Given the description of an element on the screen output the (x, y) to click on. 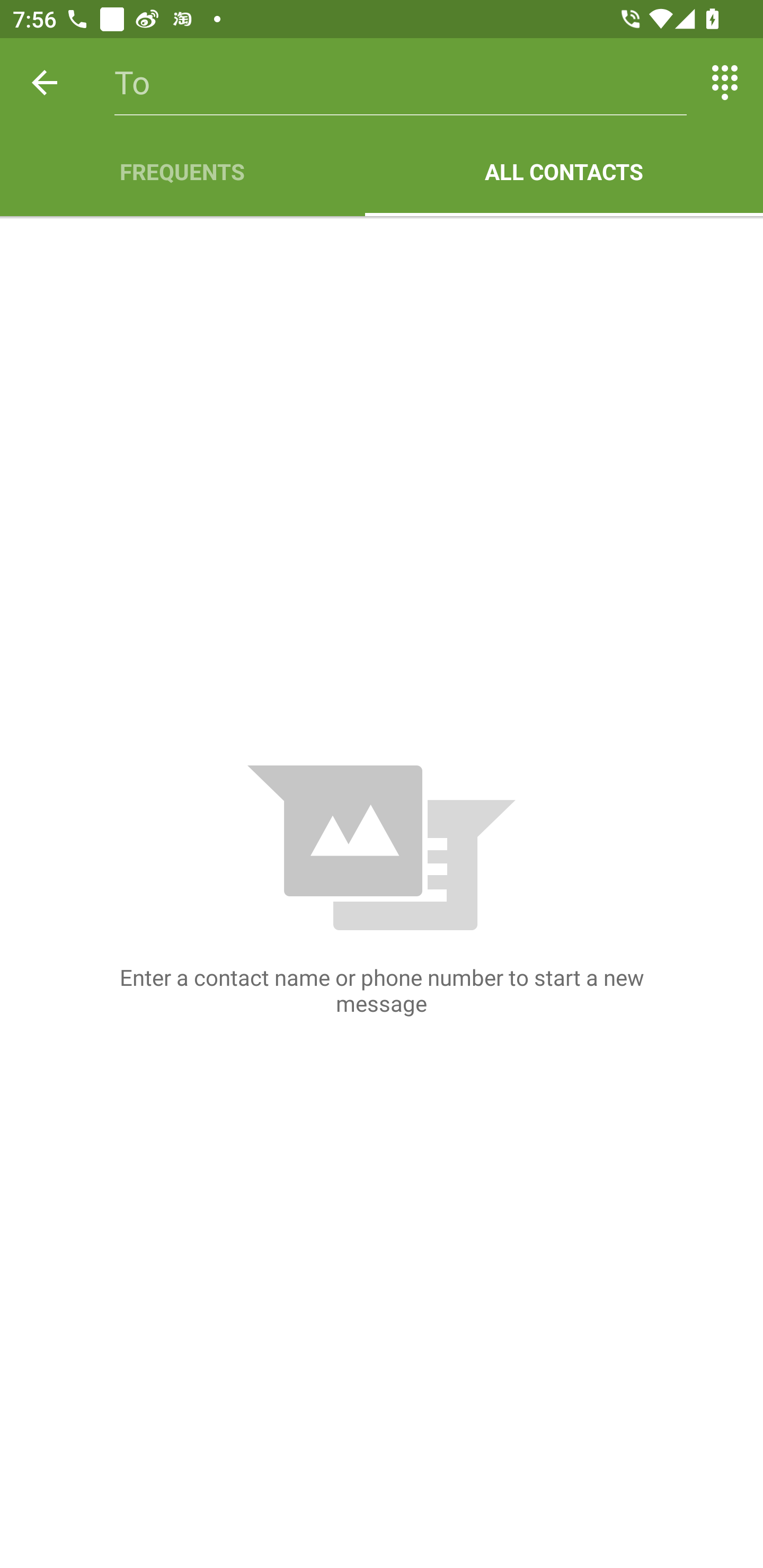
Back (44, 82)
Switch between entering text and numbers (724, 81)
To (400, 82)
FREQUENTS (182, 171)
ALL CONTACTS (563, 171)
